Given the description of an element on the screen output the (x, y) to click on. 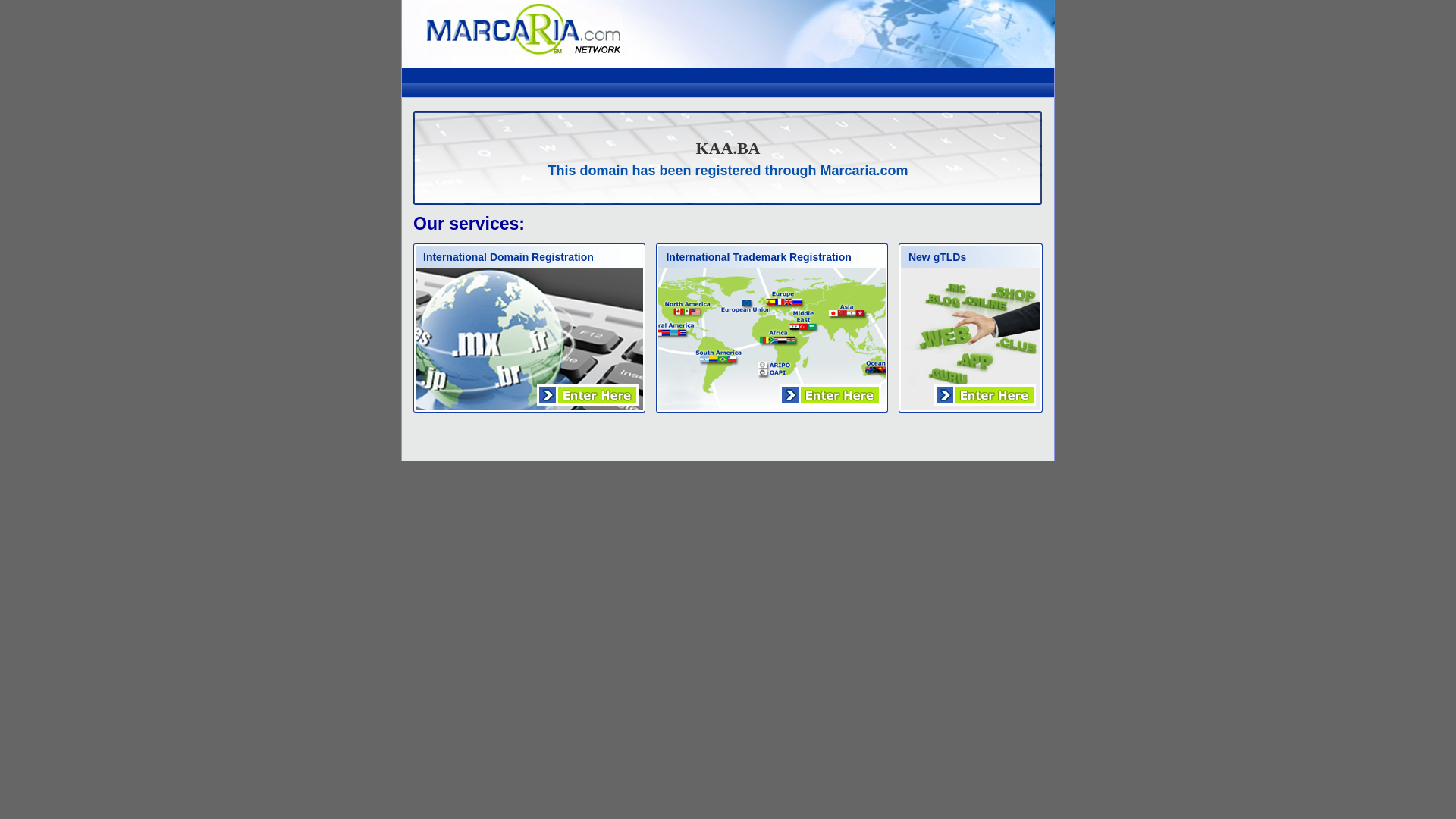
New gTLDs Element type: text (937, 256)
International Trademark Registration Element type: text (757, 256)
International Domain Registration Element type: text (508, 256)
